Given the description of an element on the screen output the (x, y) to click on. 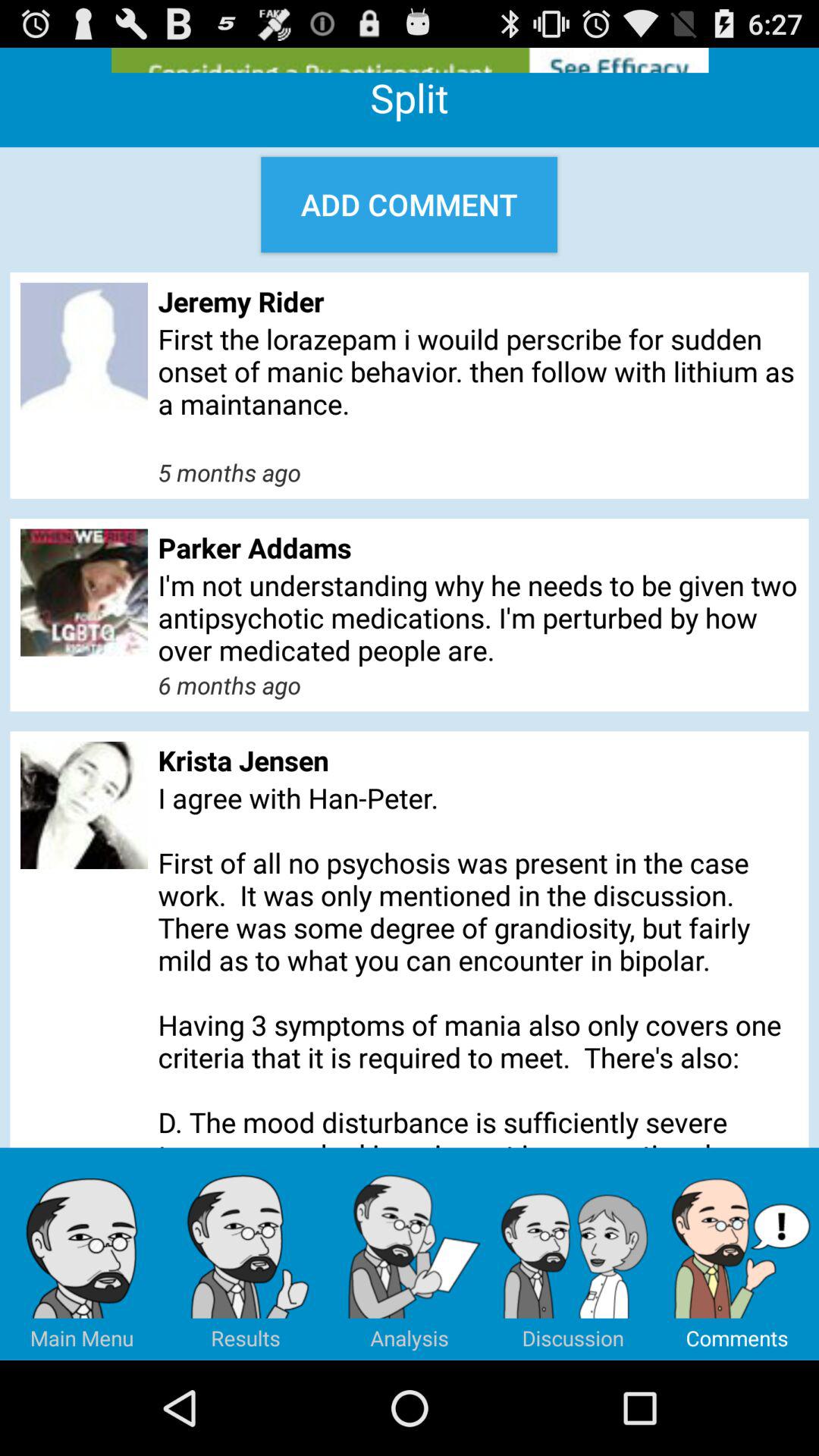
flip to add comment item (409, 204)
